Given the description of an element on the screen output the (x, y) to click on. 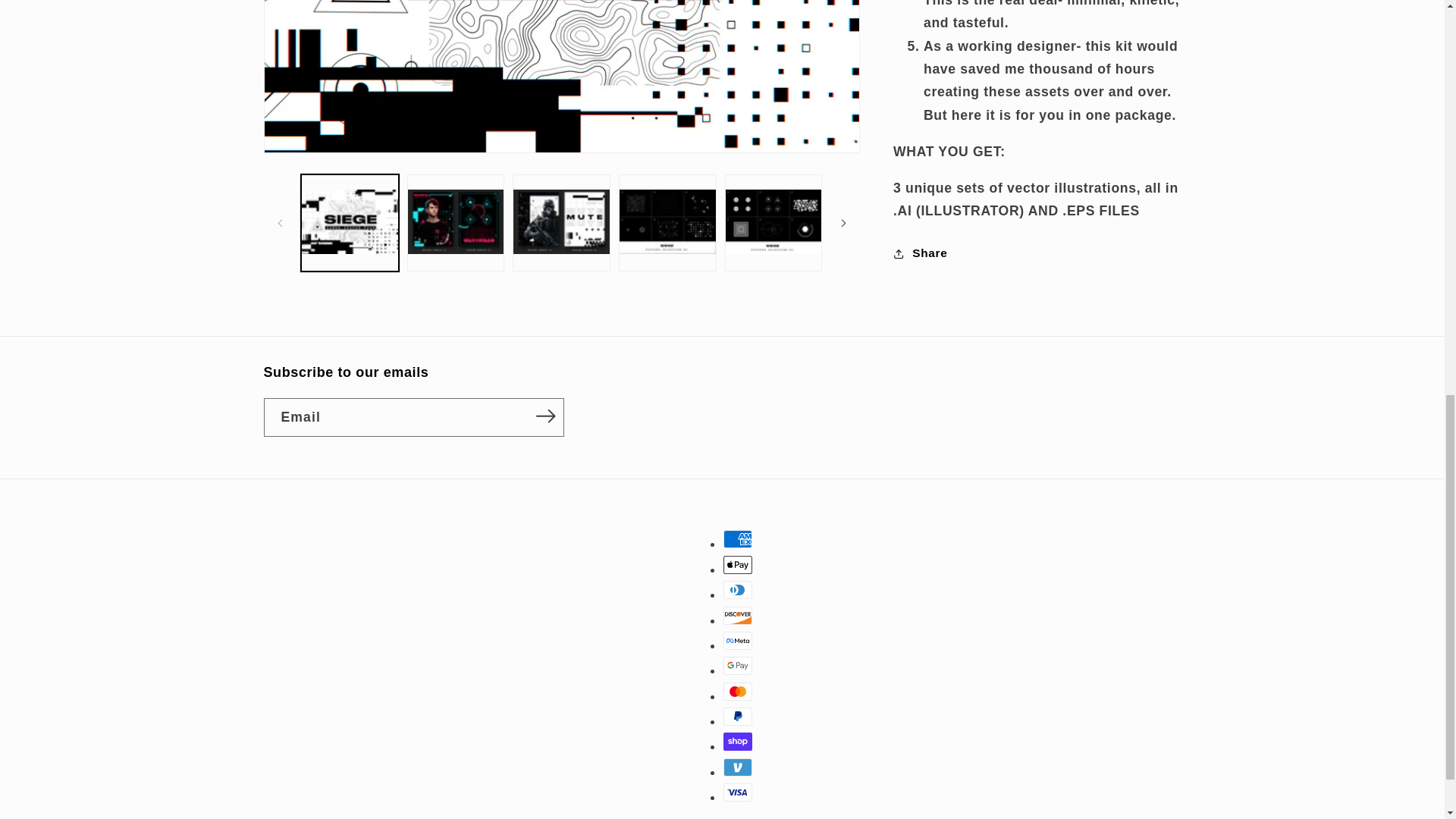
Meta Pay (737, 640)
Mastercard (737, 691)
Shop Pay (737, 741)
Diners Club (737, 589)
American Express (737, 538)
Google Pay (737, 665)
PayPal (737, 716)
Apple Pay (737, 565)
Visa (737, 791)
Venmo (737, 767)
